Given the description of an element on the screen output the (x, y) to click on. 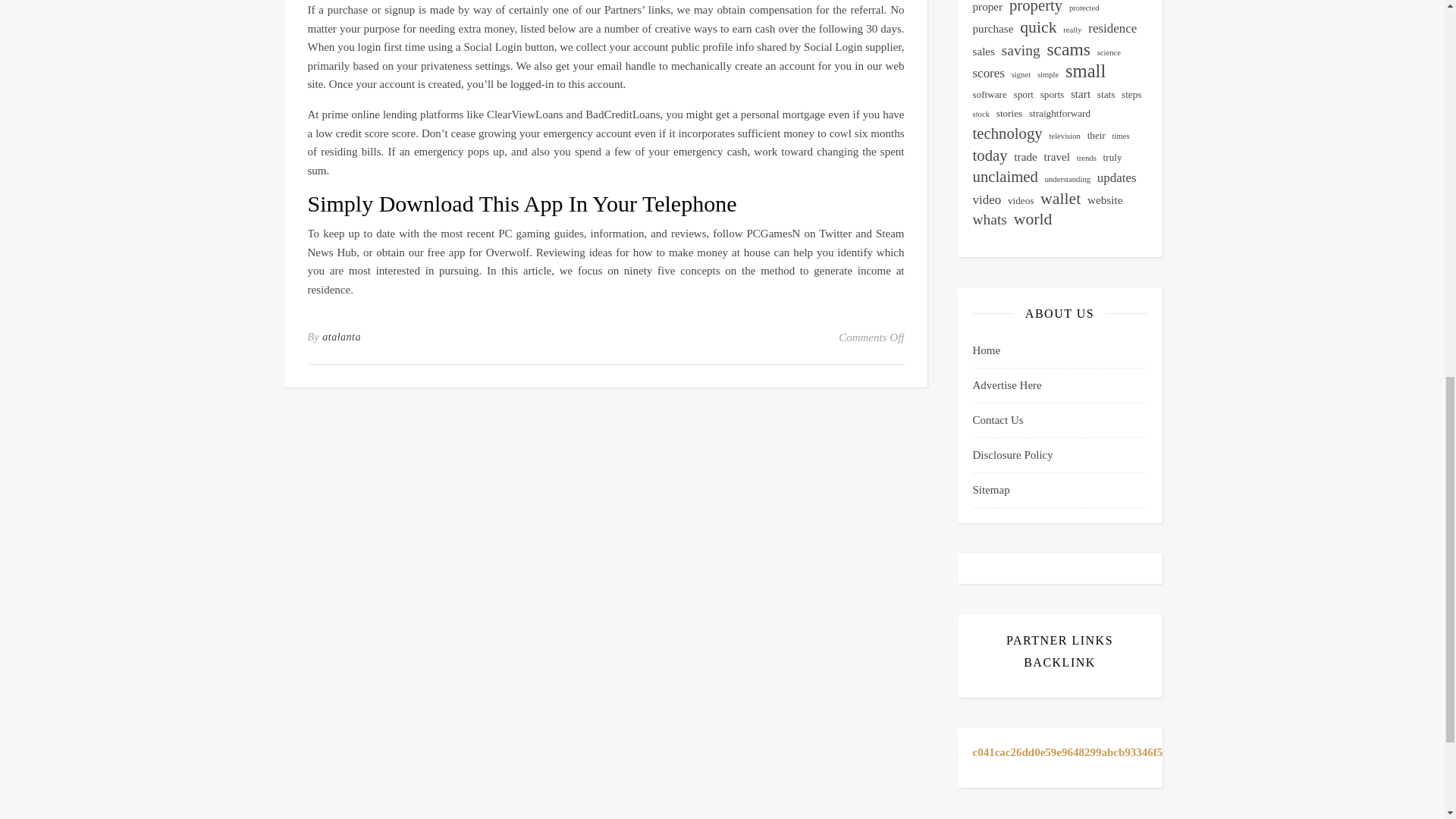
atalanta (341, 336)
property (1035, 7)
residence (1112, 28)
protected (1083, 9)
small (1085, 71)
saving (1021, 50)
proper (987, 8)
Posts by atalanta (341, 336)
scores (988, 73)
signet (1020, 75)
sales (983, 51)
science (1109, 53)
scams (1067, 49)
really (1071, 30)
quick (1038, 27)
